Given the description of an element on the screen output the (x, y) to click on. 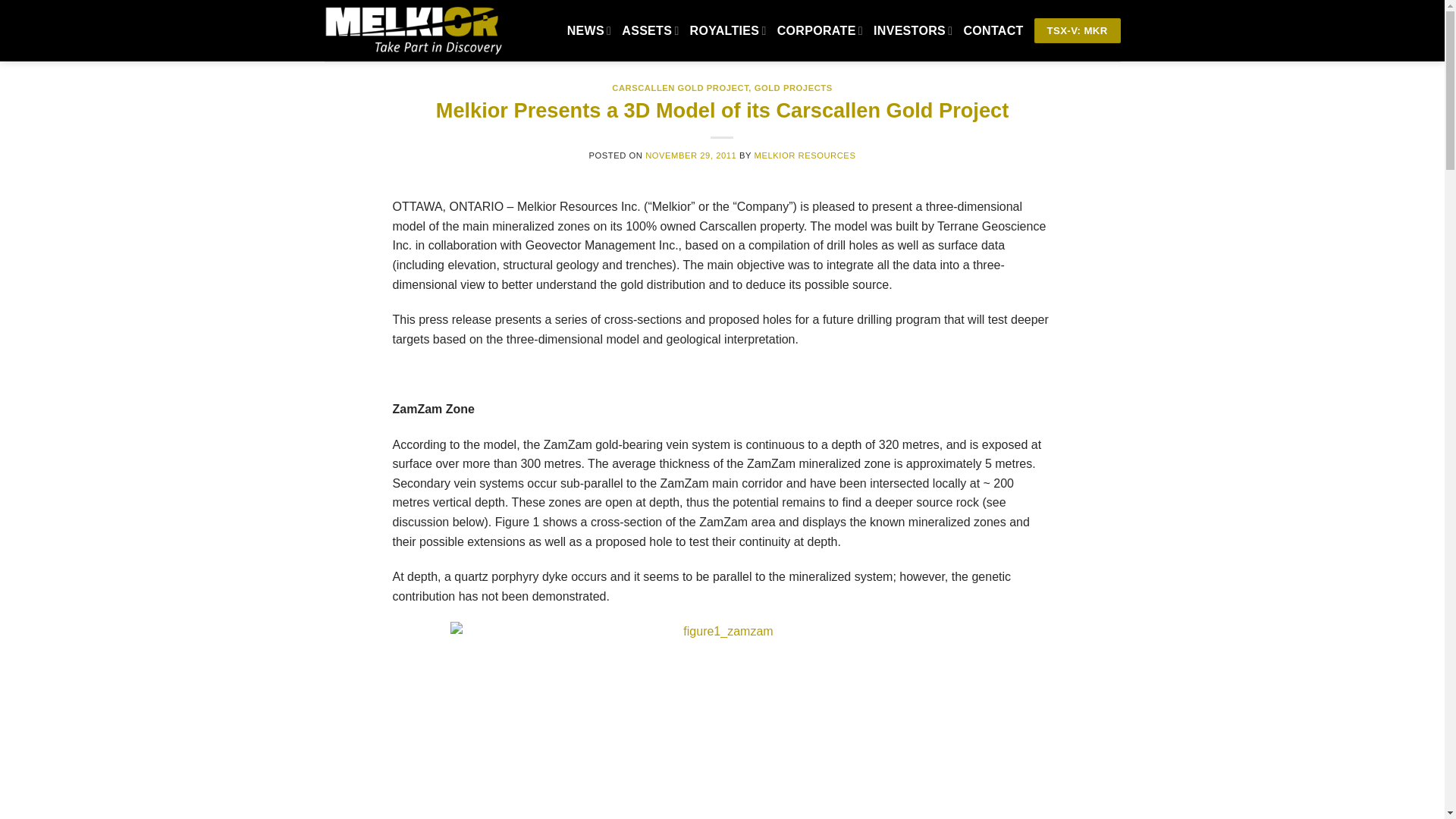
CARSCALLEN GOLD PROJECT (679, 87)
NEWS (589, 30)
NOVEMBER 29, 2011 (690, 154)
ASSETS (649, 30)
CONTACT (992, 30)
MELKIOR RESOURCES (805, 154)
INVESTORS (912, 30)
TSX-V: MKR (1077, 31)
CORPORATE (820, 30)
ROYALTIES (728, 30)
GOLD PROJECTS (793, 87)
